Given the description of an element on the screen output the (x, y) to click on. 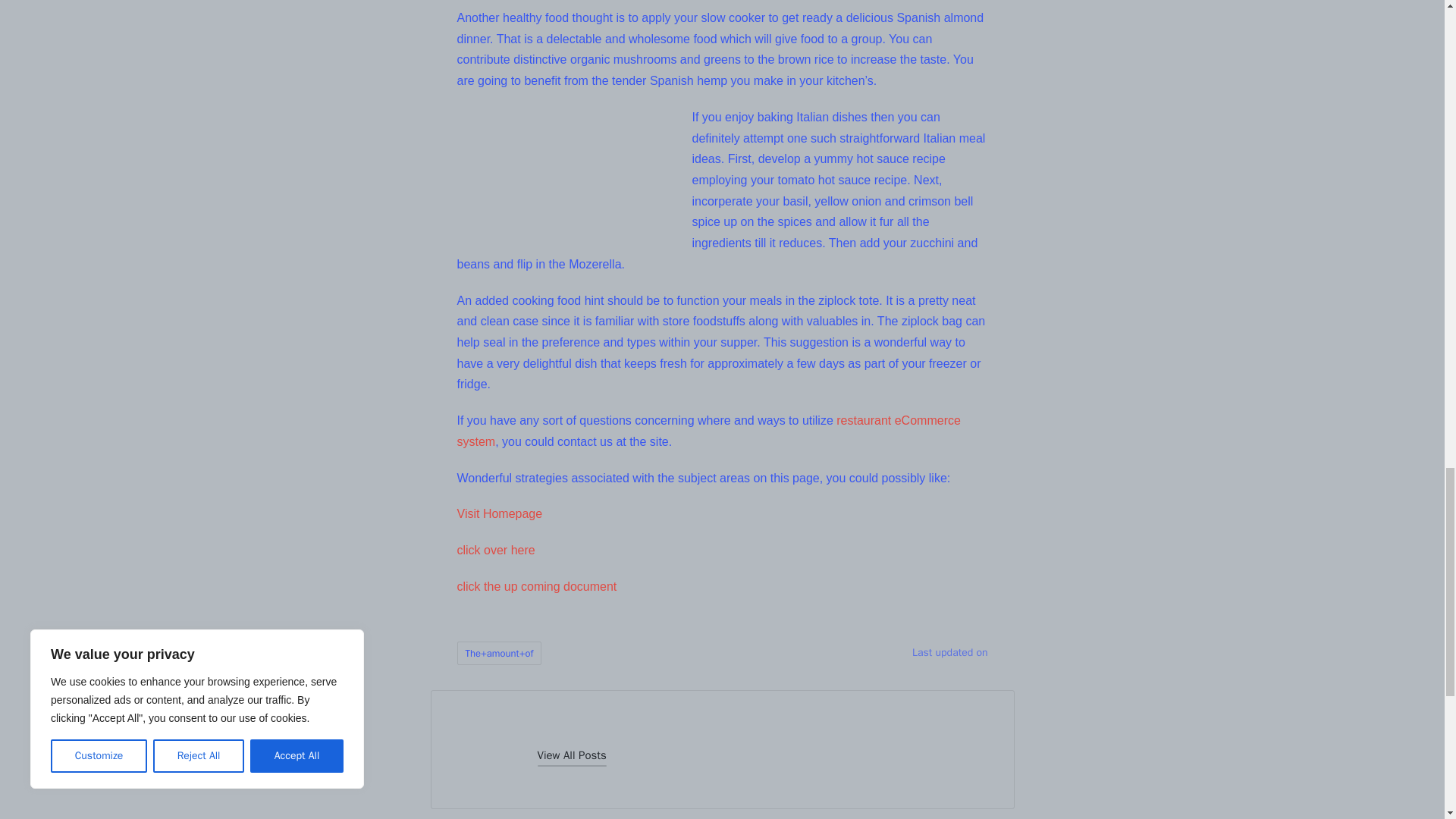
restaurant eCommerce system (708, 430)
click over here (495, 549)
Visit Homepage (499, 513)
View All Posts (571, 755)
click the up coming document (536, 585)
